Given the description of an element on the screen output the (x, y) to click on. 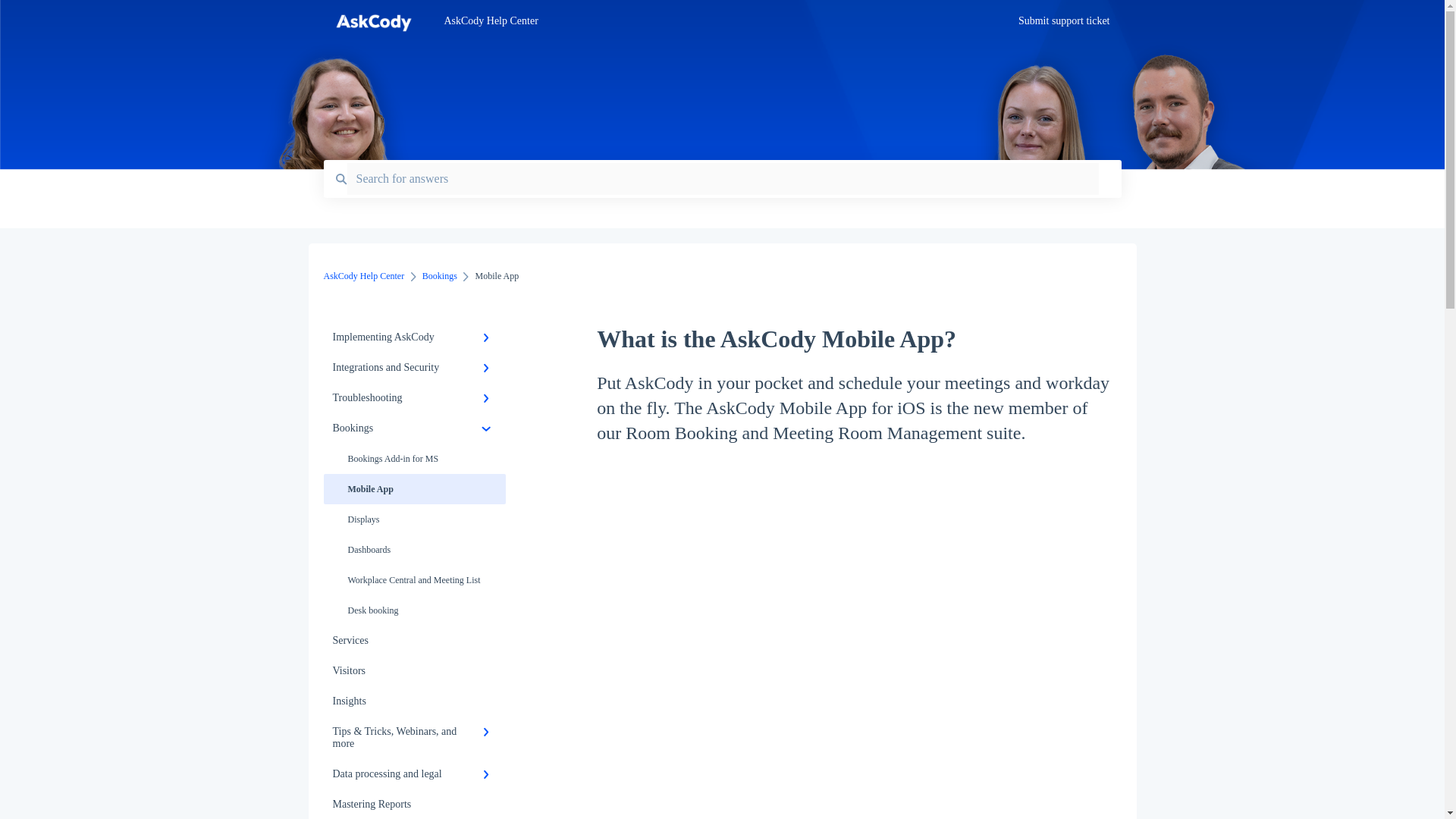
AskCody Help Center (708, 21)
Submit support ticket (1063, 25)
